Given the description of an element on the screen output the (x, y) to click on. 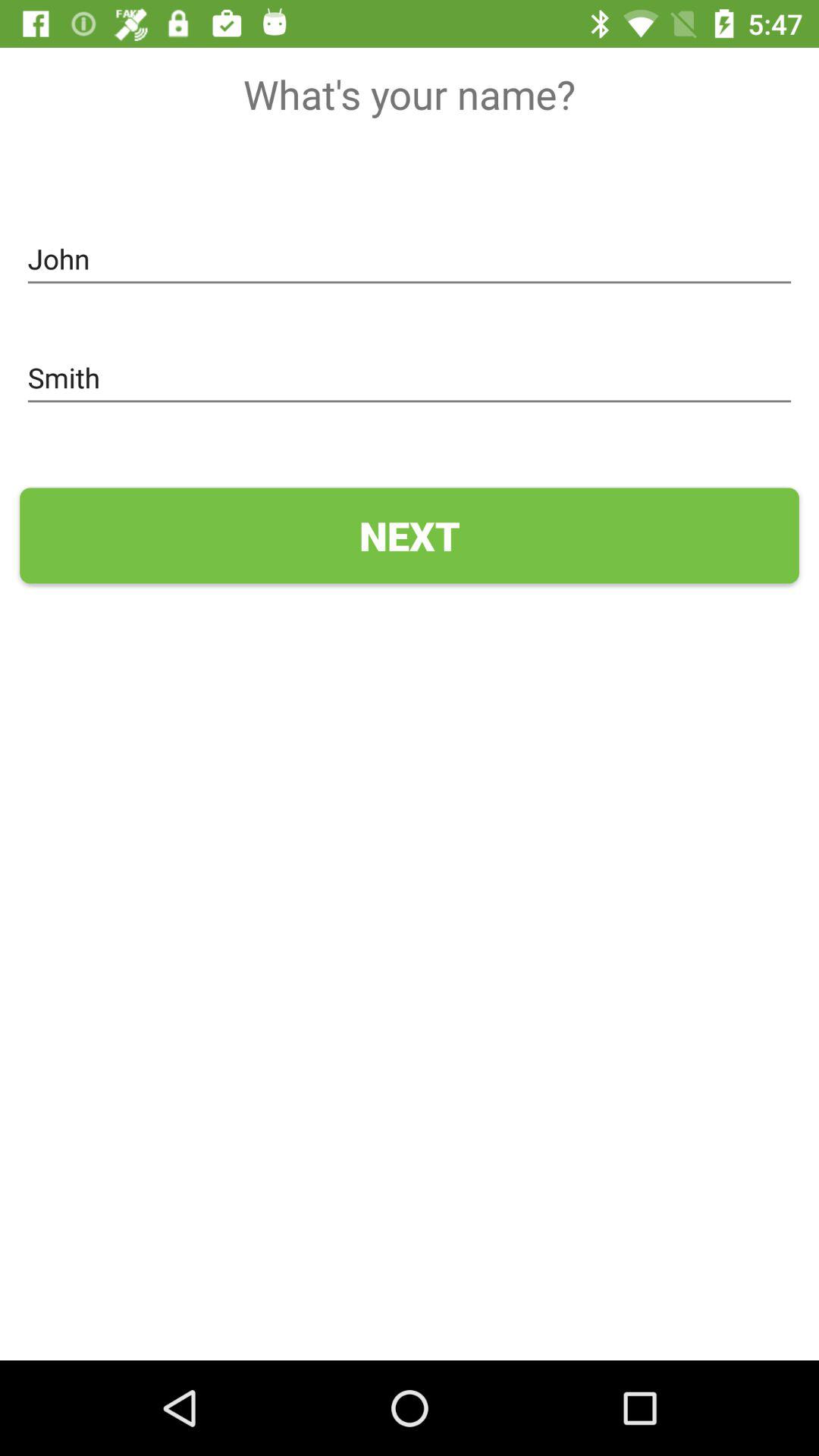
flip until john (409, 259)
